Given the description of an element on the screen output the (x, y) to click on. 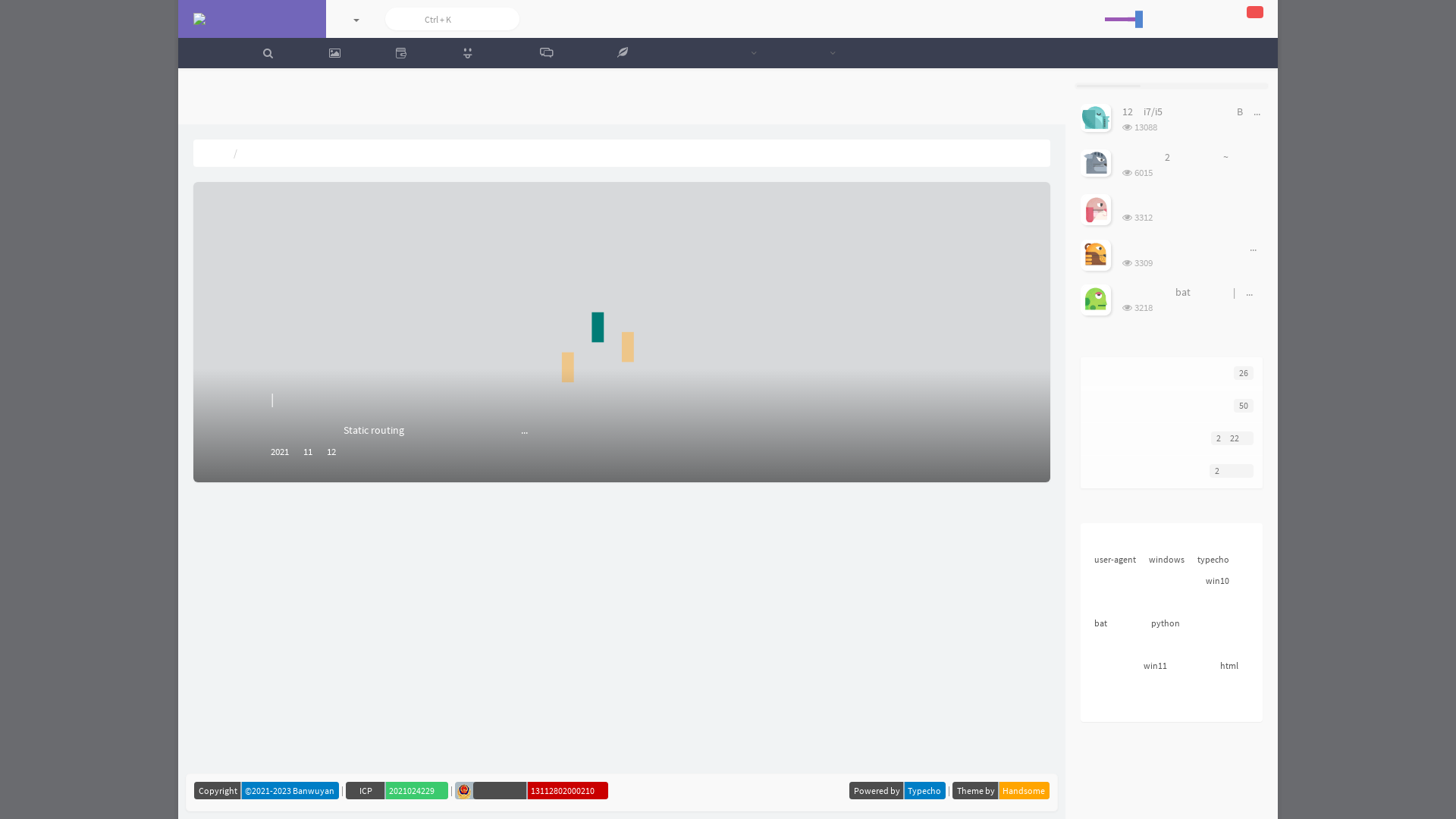
Typecho Element type: text (924, 790)
python Element type: text (1165, 623)
Handsome Element type: text (1024, 790)
windows Element type: text (1166, 559)
typecho Element type: text (1213, 559)
html Element type: text (1228, 665)
user-agent Element type: text (1114, 559)
win10 Element type: text (1217, 580)
bat Element type: text (1100, 623)
win11 Element type: text (1155, 665)
